Given the description of an element on the screen output the (x, y) to click on. 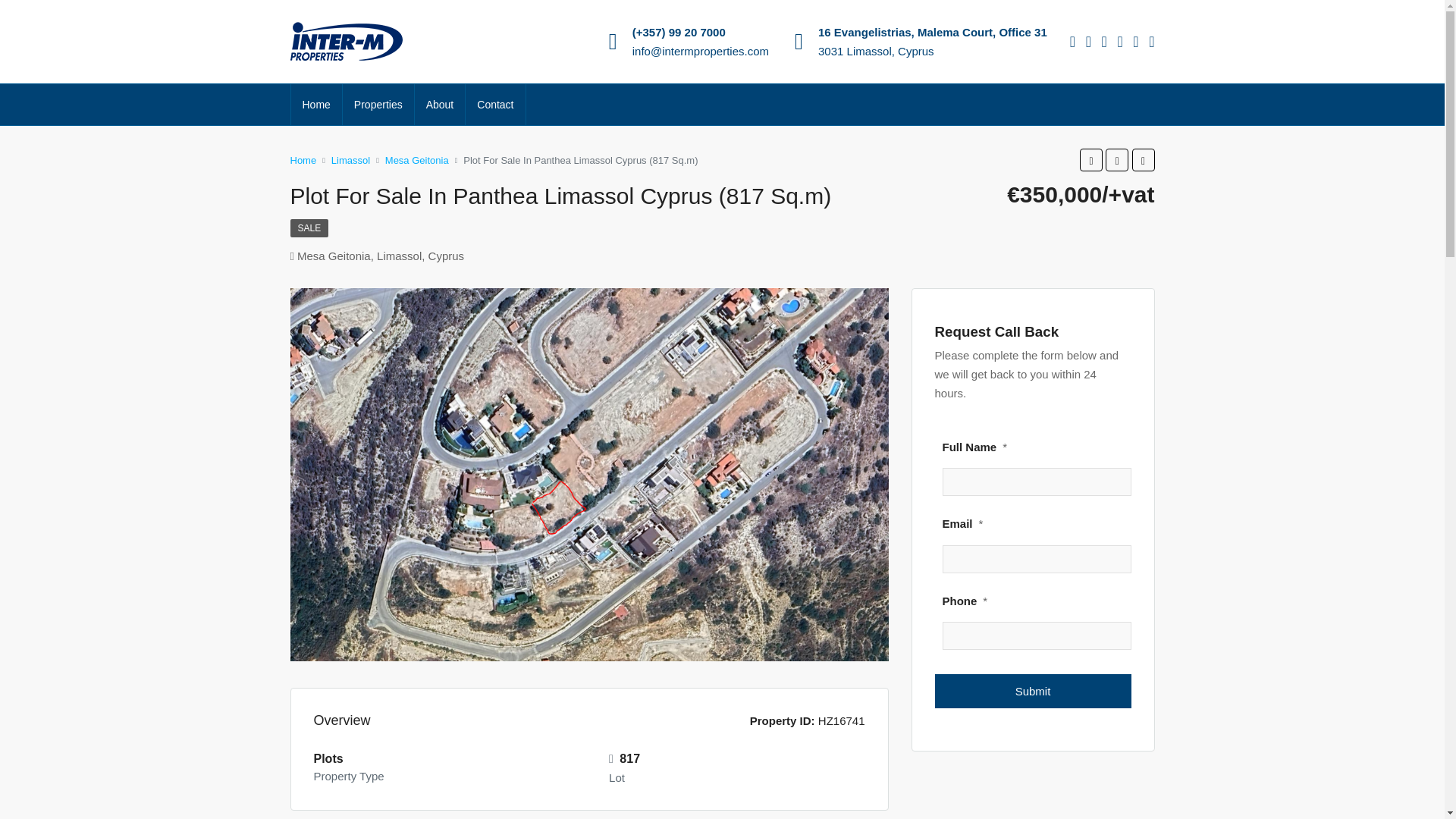
Home (302, 158)
Contact (494, 104)
Properties (377, 104)
About (439, 104)
SALE (309, 228)
Limassol (350, 158)
Home (316, 104)
Submit (1032, 691)
Mesa Geitonia (416, 158)
